Given the description of an element on the screen output the (x, y) to click on. 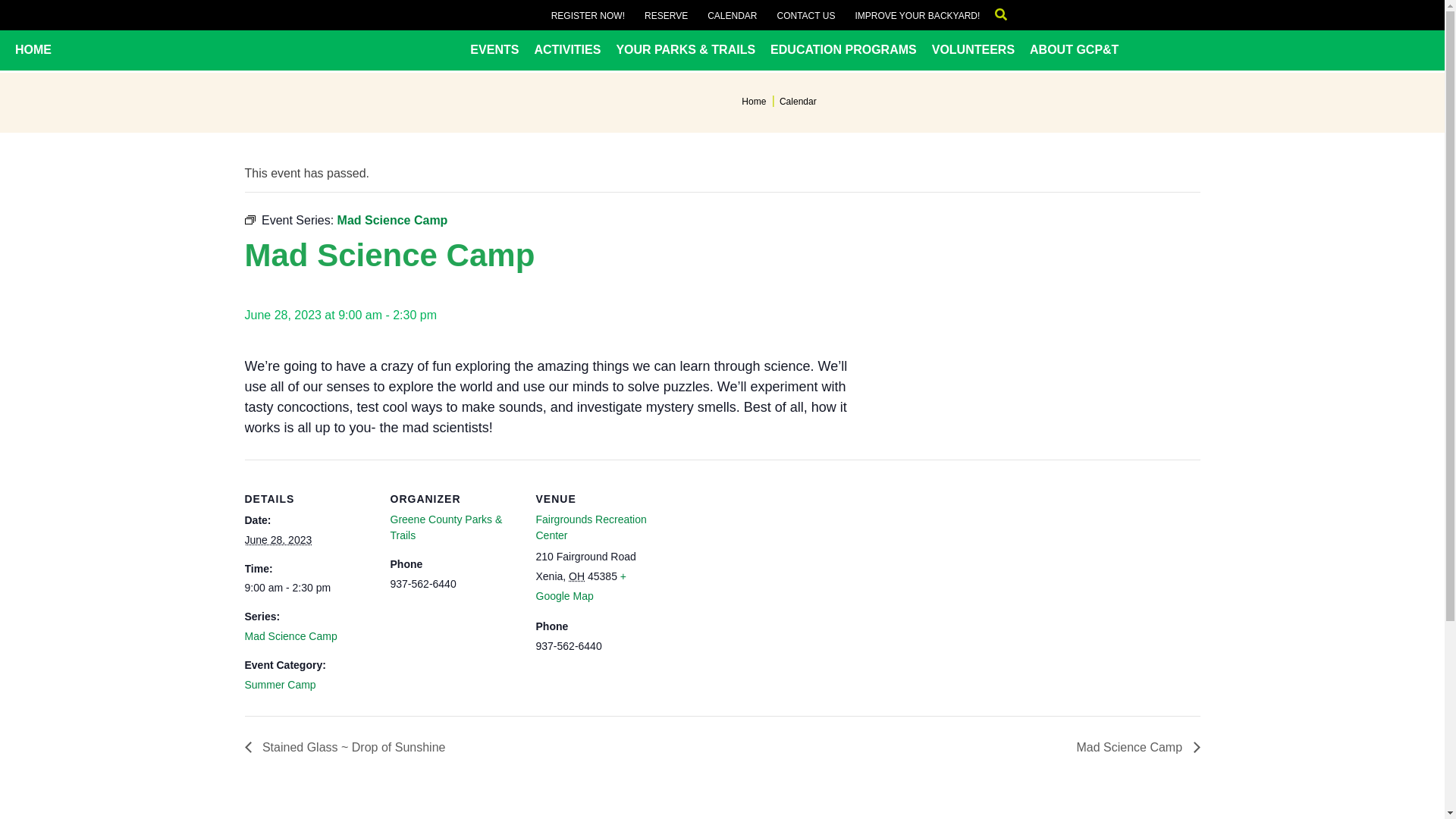
2023-06-28 (307, 587)
Click to view a Google Map (580, 585)
EDUCATION PROGRAMS (843, 49)
HOME (32, 49)
REGISTER NOW! (587, 14)
Event Series (249, 219)
VOLUNTEERS (972, 49)
2023-06-28 (277, 539)
RESERVE (666, 14)
